Given the description of an element on the screen output the (x, y) to click on. 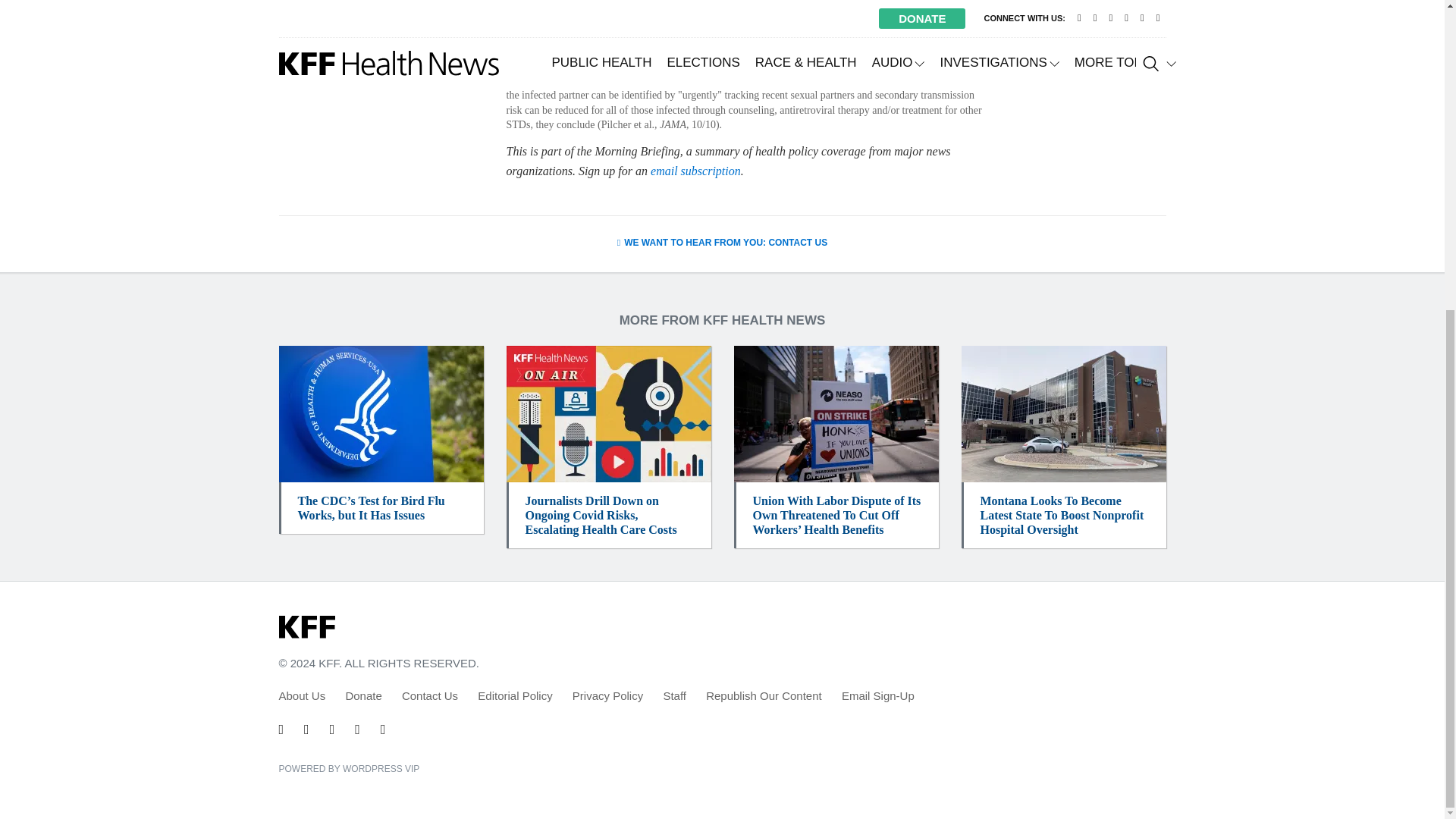
Twitter (281, 729)
LinkedIn (332, 729)
KFF (306, 627)
Facebook (306, 729)
Instagram (357, 729)
RSS (382, 729)
